Given the description of an element on the screen output the (x, y) to click on. 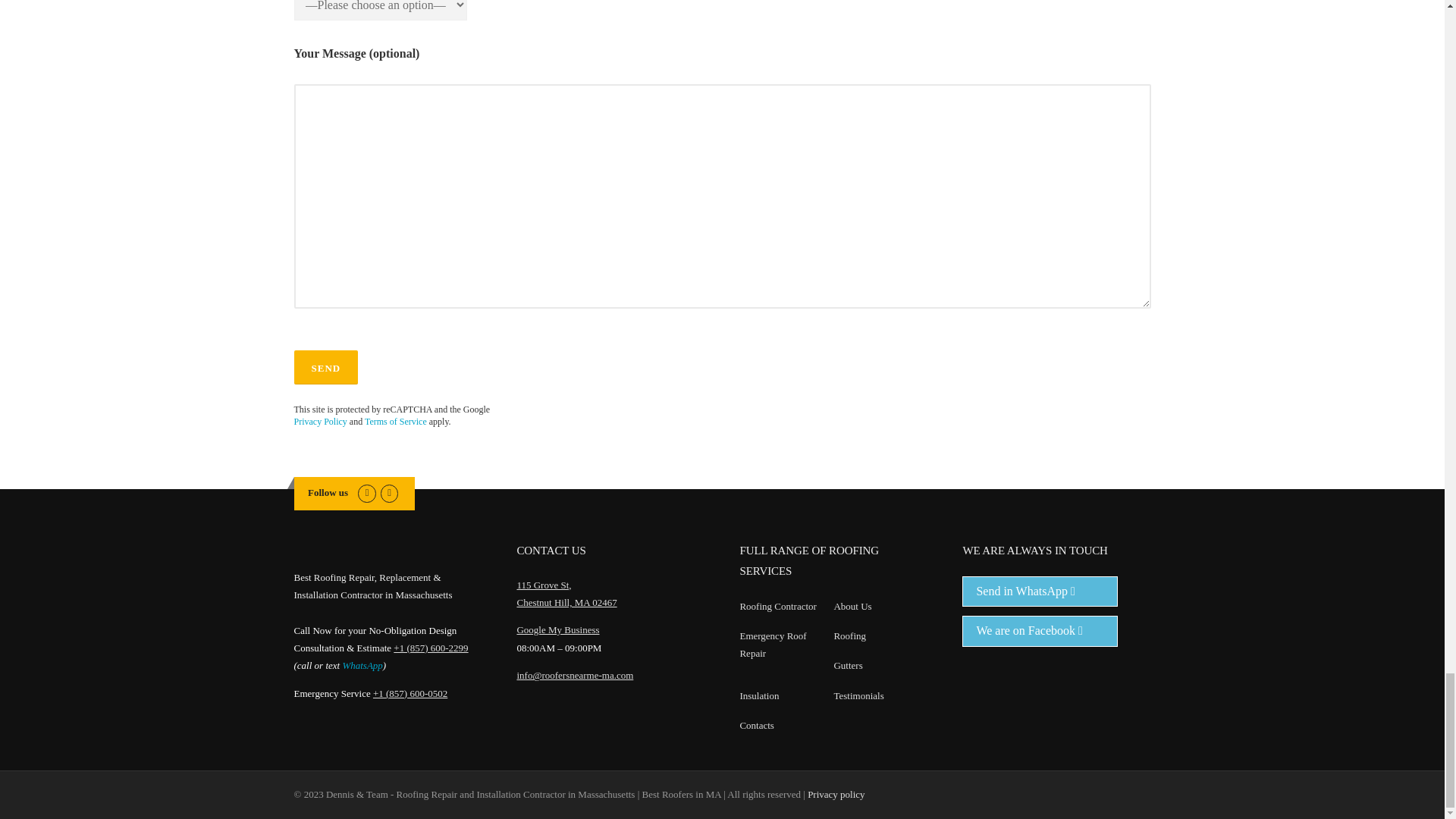
Send (326, 367)
Facebook (366, 491)
Email (388, 491)
